Given the description of an element on the screen output the (x, y) to click on. 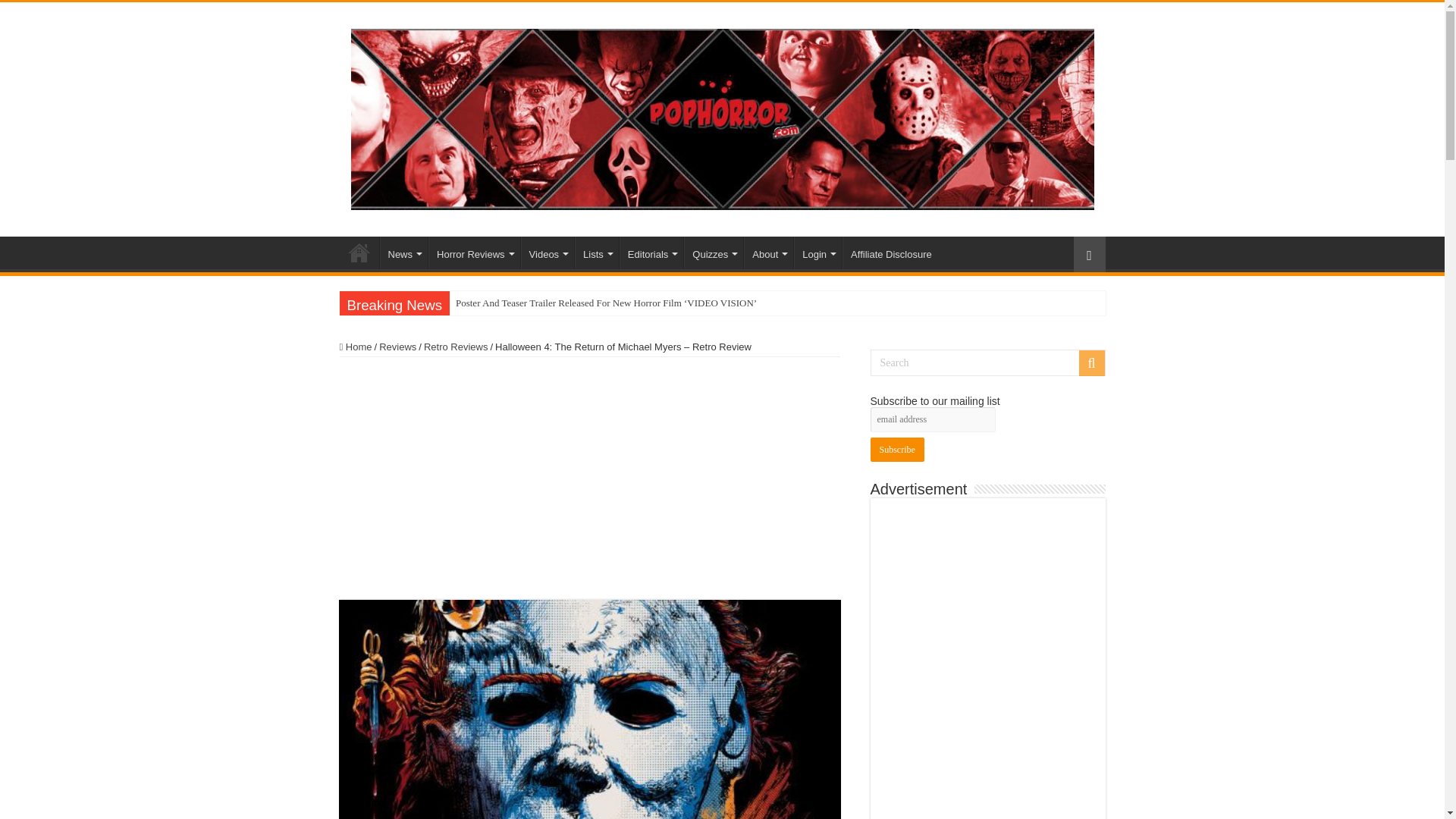
PopHorror (721, 116)
Subscribe (897, 449)
Search (987, 362)
PopHorror (358, 252)
News (403, 252)
